Given the description of an element on the screen output the (x, y) to click on. 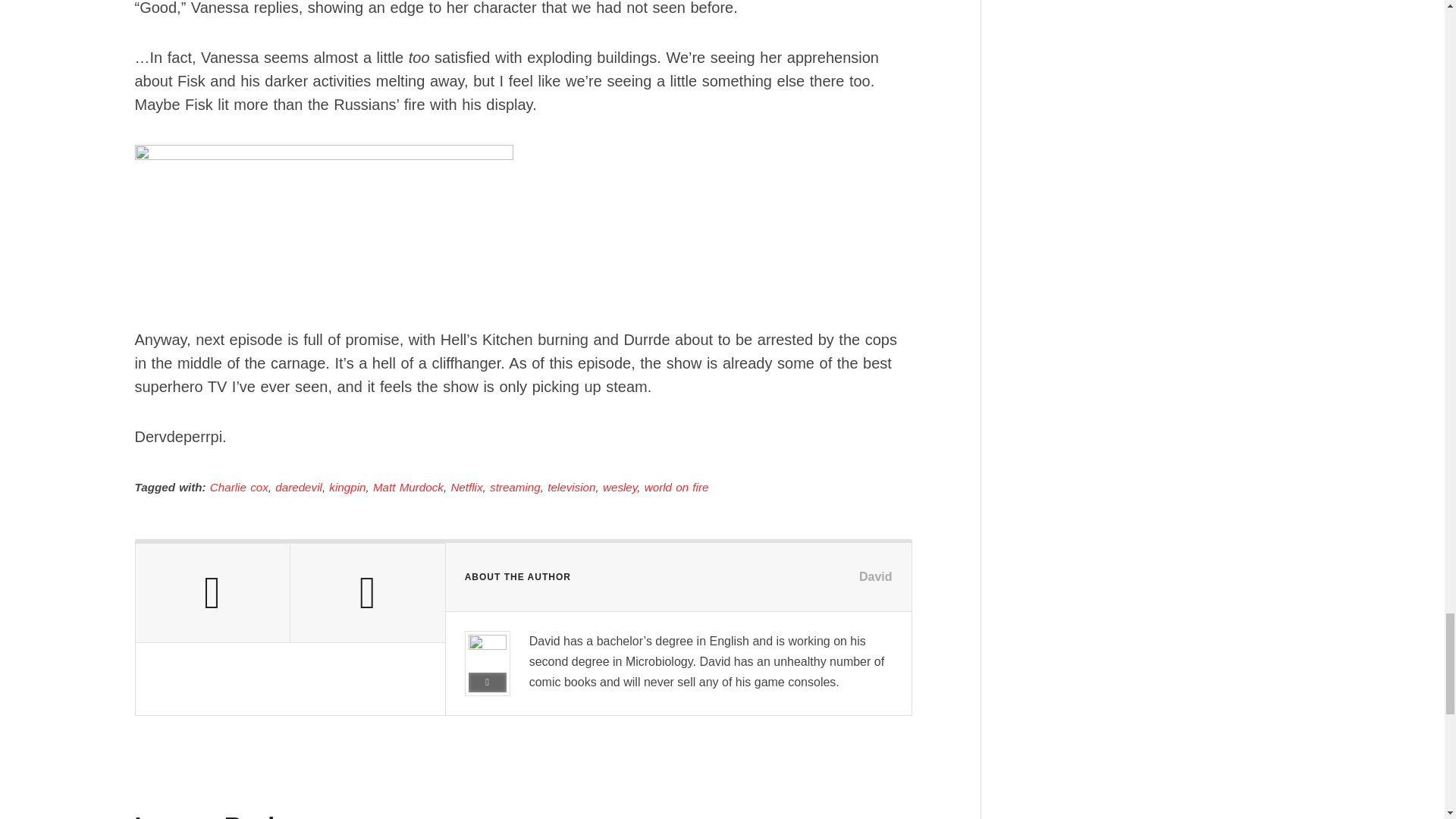
kingpin (347, 486)
streaming (514, 486)
Netflix (465, 486)
daredevil (298, 486)
Matt Murdock (408, 486)
Previous Post (212, 592)
Charlie cox (238, 486)
Author's Link (487, 682)
Next Post (367, 592)
